Given the description of an element on the screen output the (x, y) to click on. 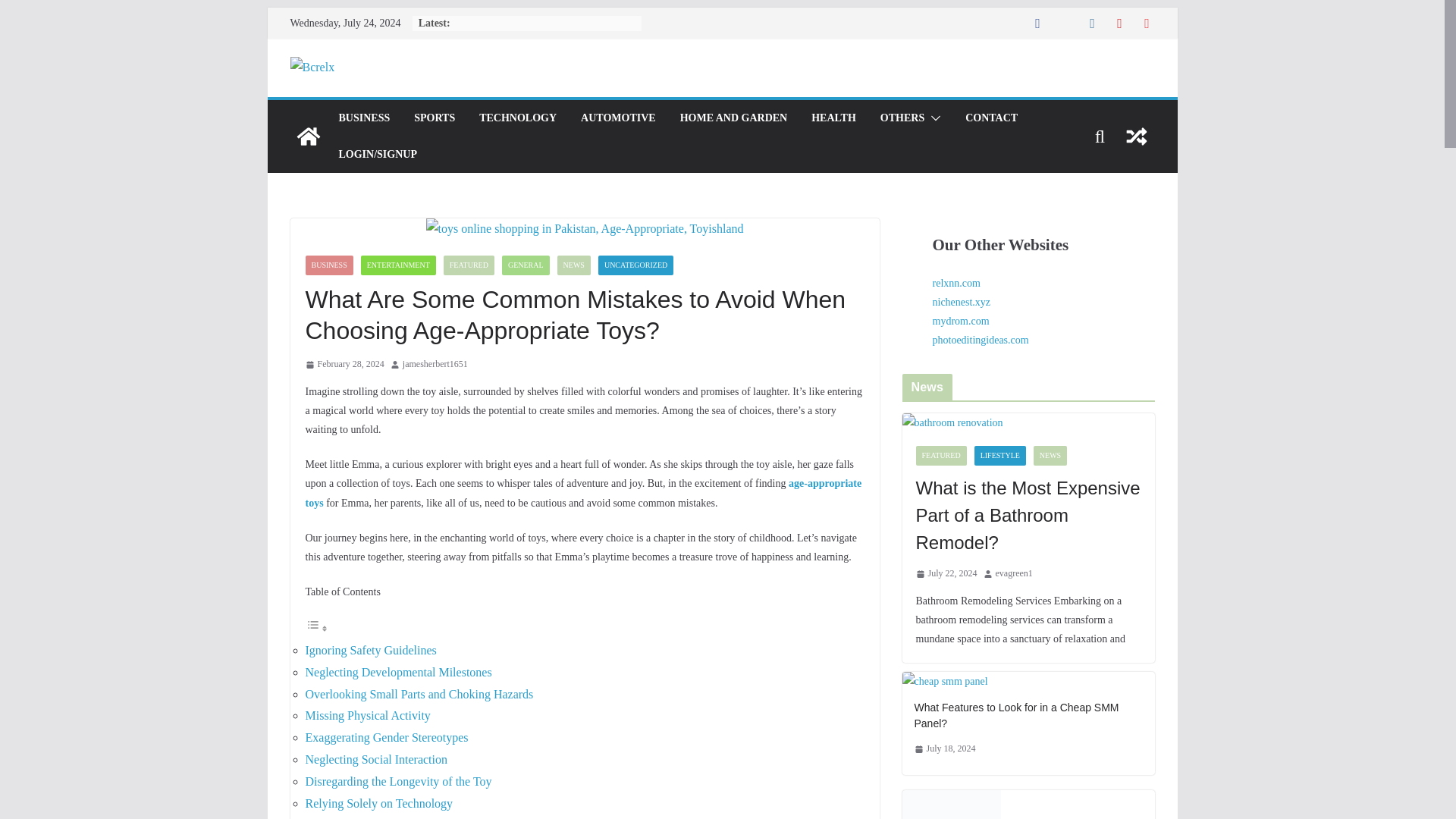
SPORTS (433, 117)
HEALTH (833, 117)
OTHERS (902, 117)
HOME AND GARDEN (733, 117)
GENERAL (526, 265)
ENTERTAINMENT (398, 265)
Overlooking Small Parts and Choking Hazards (418, 694)
BUSINESS (328, 265)
8:11 am (344, 364)
AUTOMOTIVE (618, 117)
Neglecting Developmental Milestones (398, 671)
View a random post (1136, 135)
CONTACT (991, 117)
jamesherbert1651 (435, 364)
